Given the description of an element on the screen output the (x, y) to click on. 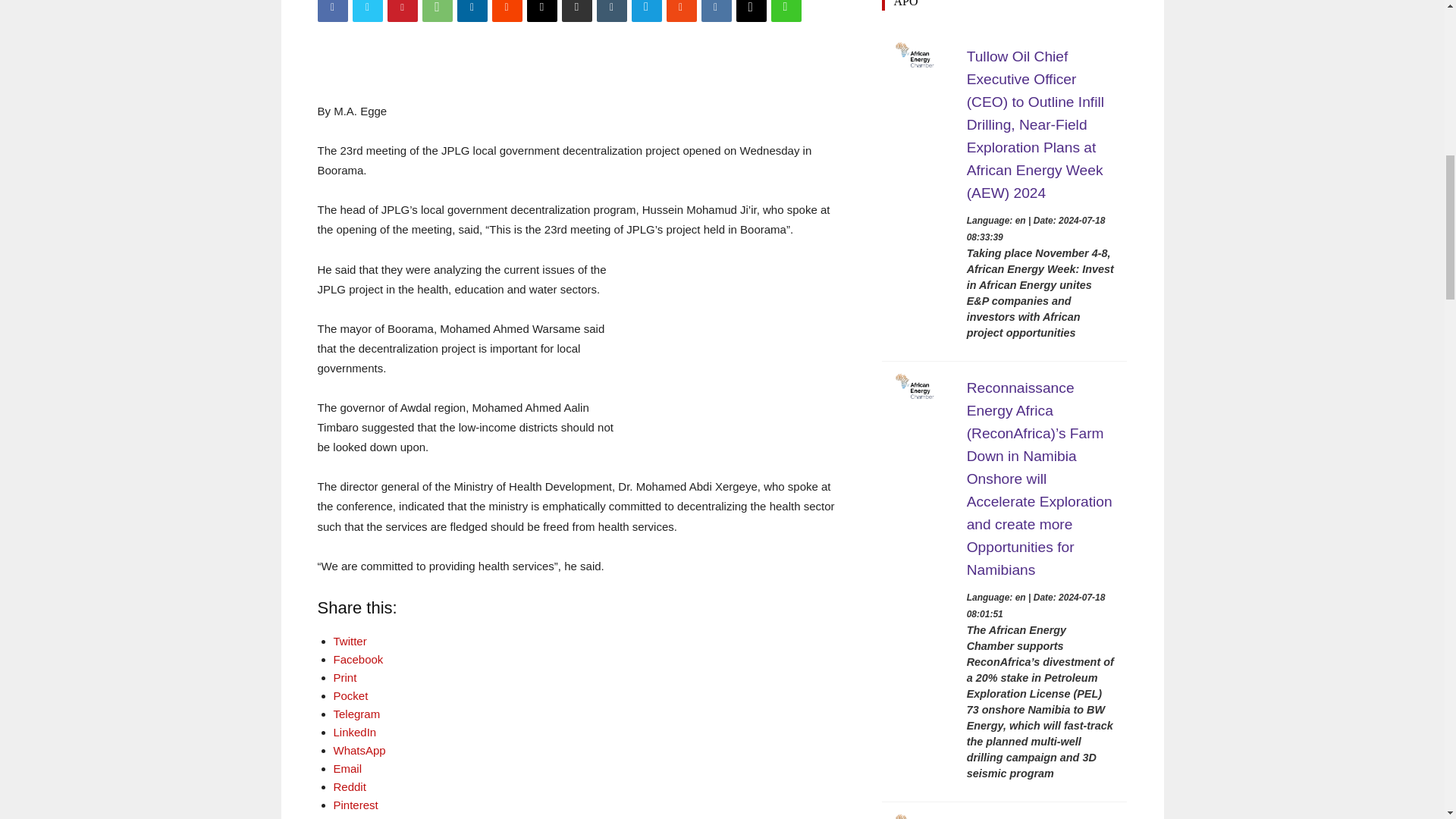
Facebook (332, 11)
WhatsApp (436, 11)
Twitter (366, 11)
Pinterest (401, 11)
